Given the description of an element on the screen output the (x, y) to click on. 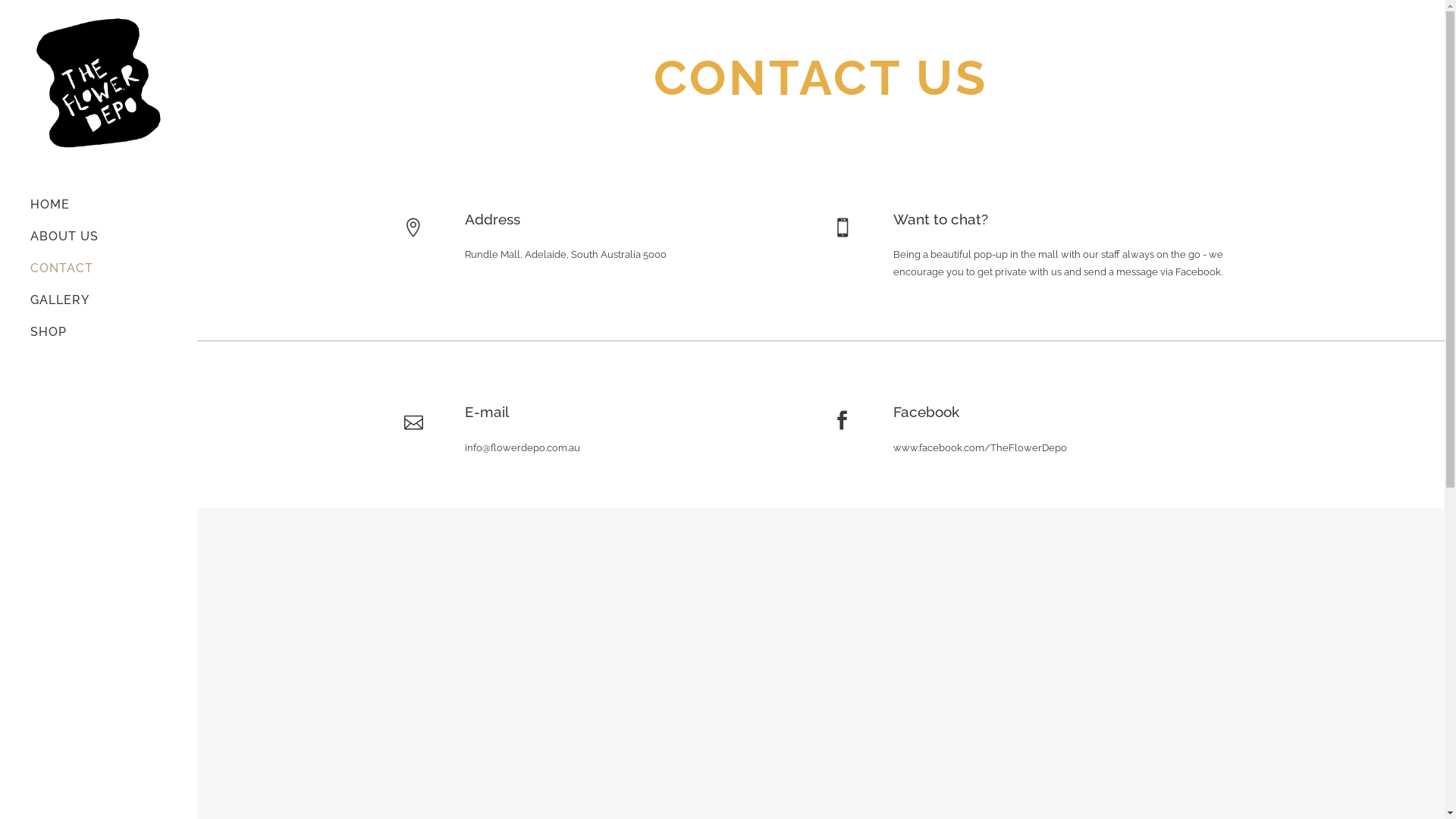
CONTACT Element type: text (98, 268)
ABOUT US Element type: text (98, 236)
HOME Element type: text (98, 204)
GALLERY Element type: text (98, 300)
SHOP Element type: text (98, 332)
